Given the description of an element on the screen output the (x, y) to click on. 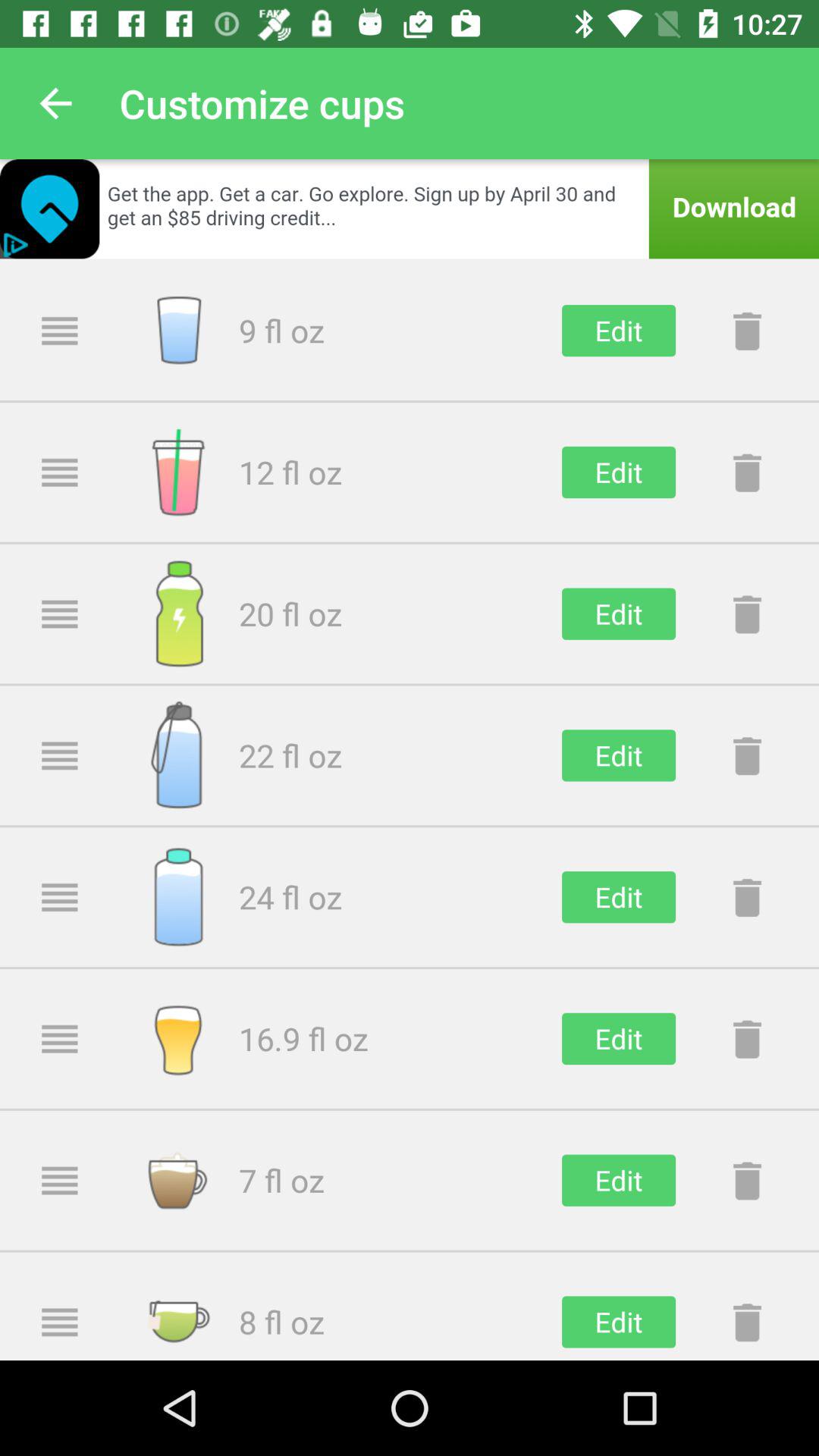
delete page (747, 330)
